Given the description of an element on the screen output the (x, y) to click on. 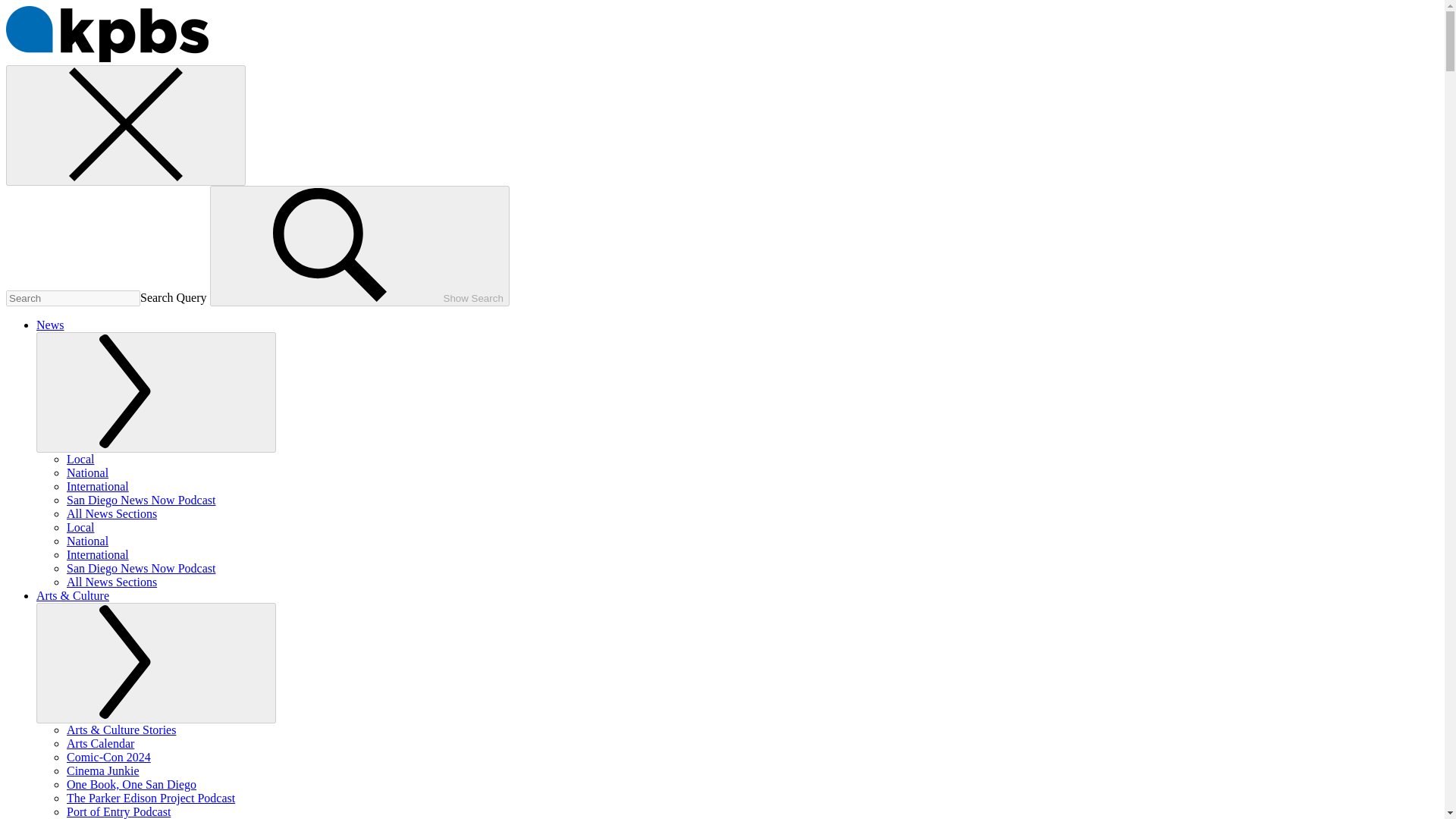
National (86, 472)
All News Sections (111, 513)
All News Sections (111, 581)
San Diego News Now Podcast (140, 499)
International (97, 486)
Arts Calendar (99, 743)
Port of Entry Podcast (118, 811)
Local (80, 526)
One Book, One San Diego (131, 784)
International (97, 554)
Show Search (359, 245)
Comic-Con 2024 (108, 757)
Cinema Junkie (102, 770)
National (86, 540)
Local (80, 459)
